Given the description of an element on the screen output the (x, y) to click on. 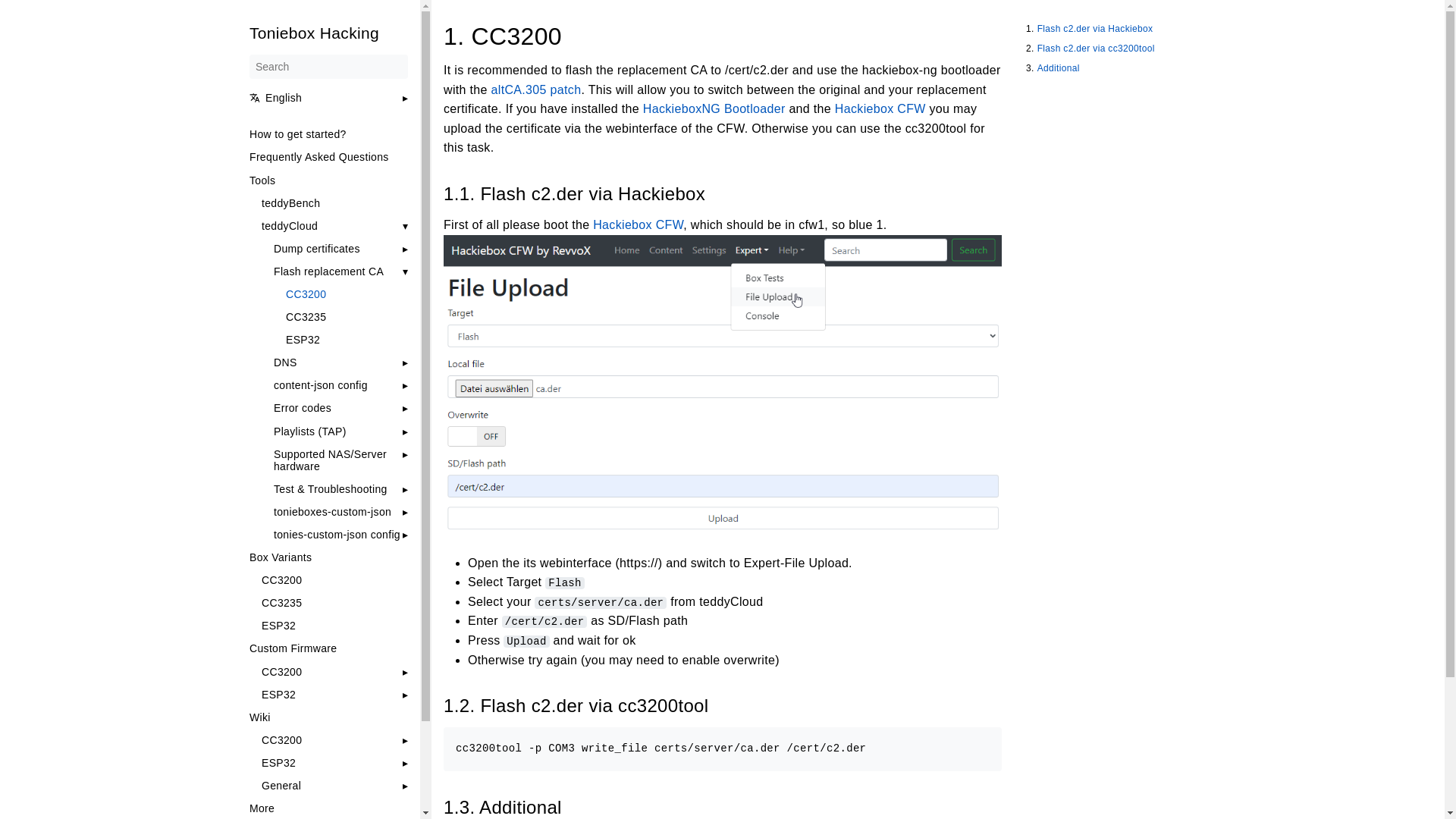
Toniebox Hacking (327, 33)
Tools (327, 180)
CC3200 (346, 294)
ESP32 (346, 339)
Custom Firmware (327, 648)
How to get started? (327, 133)
Error codes (301, 408)
DNS (285, 362)
tonieboxes-custom-json (331, 511)
ESP32 (333, 625)
CC3200 (333, 580)
CC3200 (280, 671)
tonies-custom-json config (335, 534)
teddyBench (333, 203)
teddyCloud (288, 225)
